Given the description of an element on the screen output the (x, y) to click on. 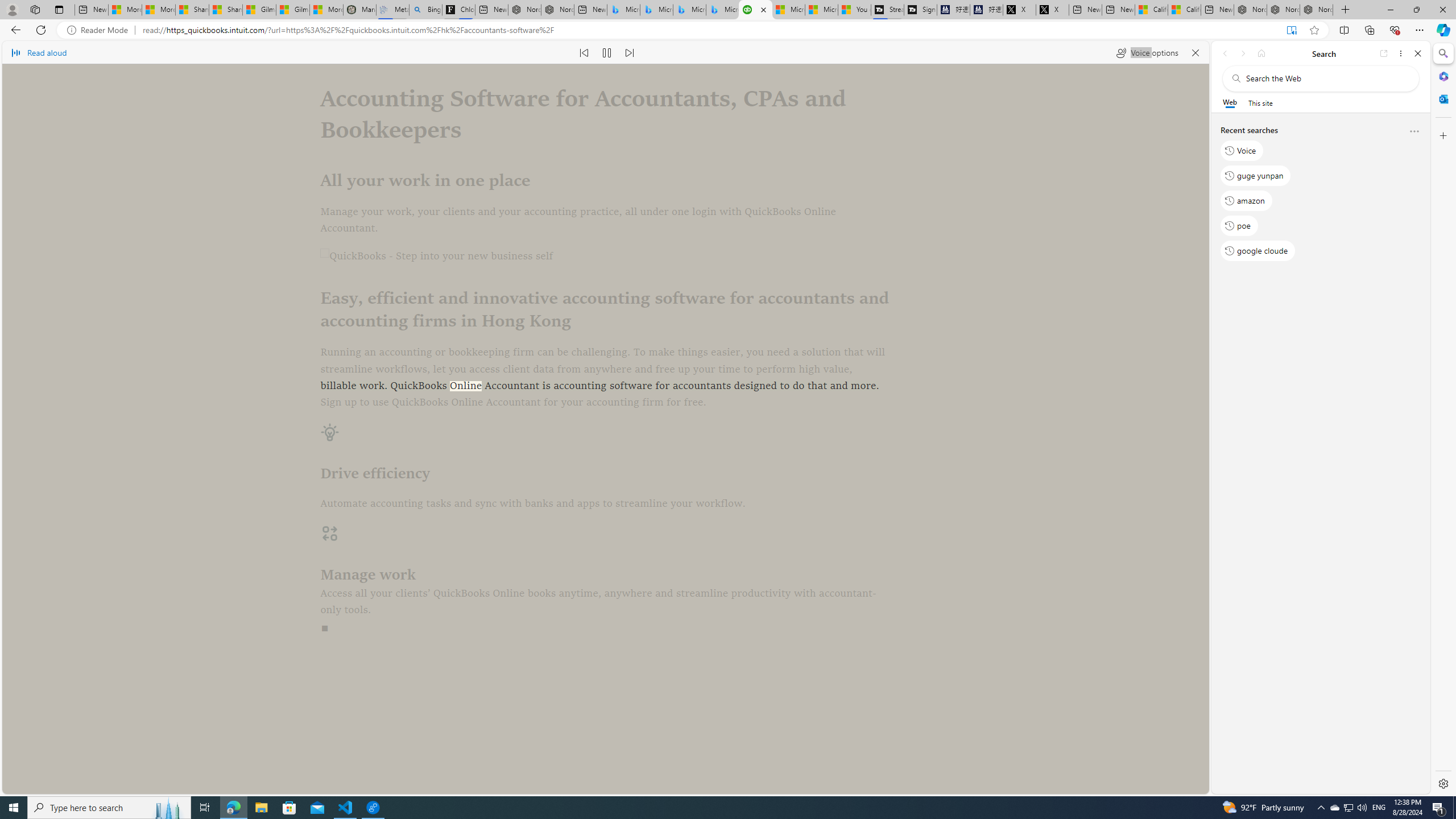
QuickBooks - Step into your new business self (605, 256)
Reader Mode (100, 29)
